Given the description of an element on the screen output the (x, y) to click on. 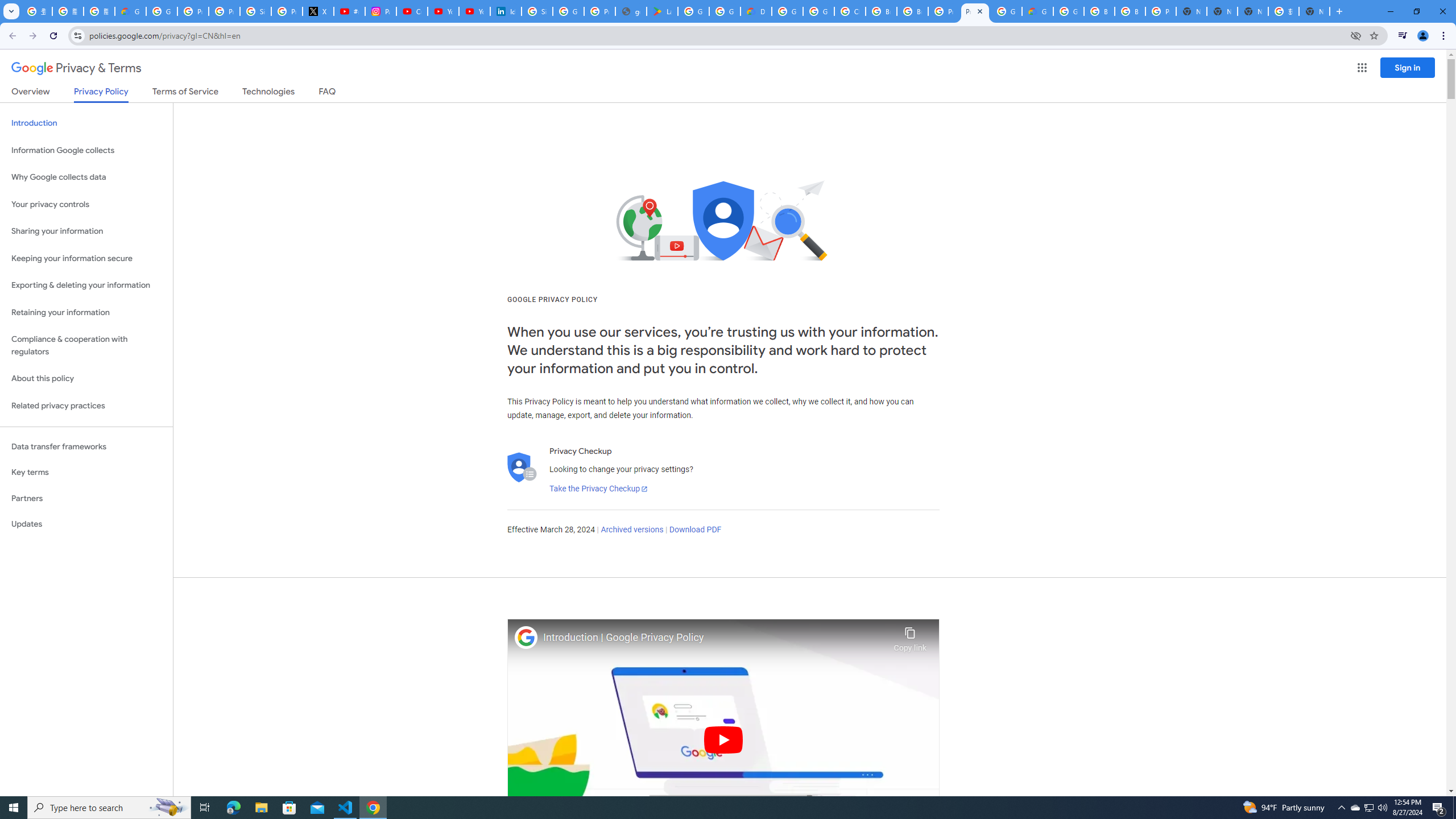
YouTube Culture & Trends - YouTube Top 10, 2021 (474, 11)
Updates (86, 524)
New Tab (1314, 11)
Last Shelter: Survival - Apps on Google Play (662, 11)
About this policy (86, 379)
Information Google collects (86, 150)
Partners (86, 497)
Browse Chrome as a guest - Computer - Google Chrome Help (881, 11)
